Given the description of an element on the screen output the (x, y) to click on. 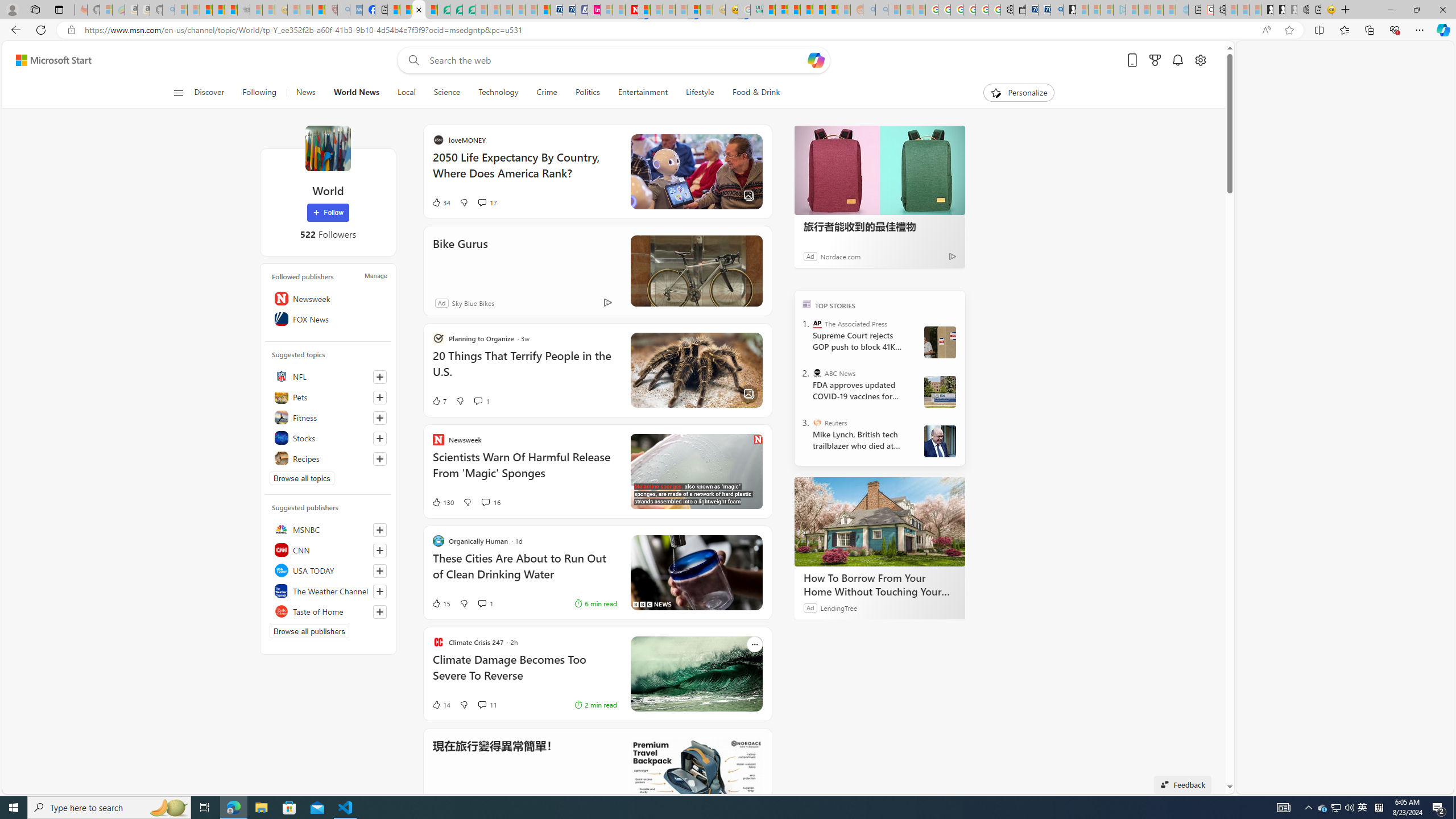
Scientists Warn Of Harmful Release From 'Magic' Sponges (524, 470)
Bike GurusAdSky Blue Bikes (596, 271)
The Associated Press (816, 323)
View comments 17 Comment (591, 202)
